Given the description of an element on the screen output the (x, y) to click on. 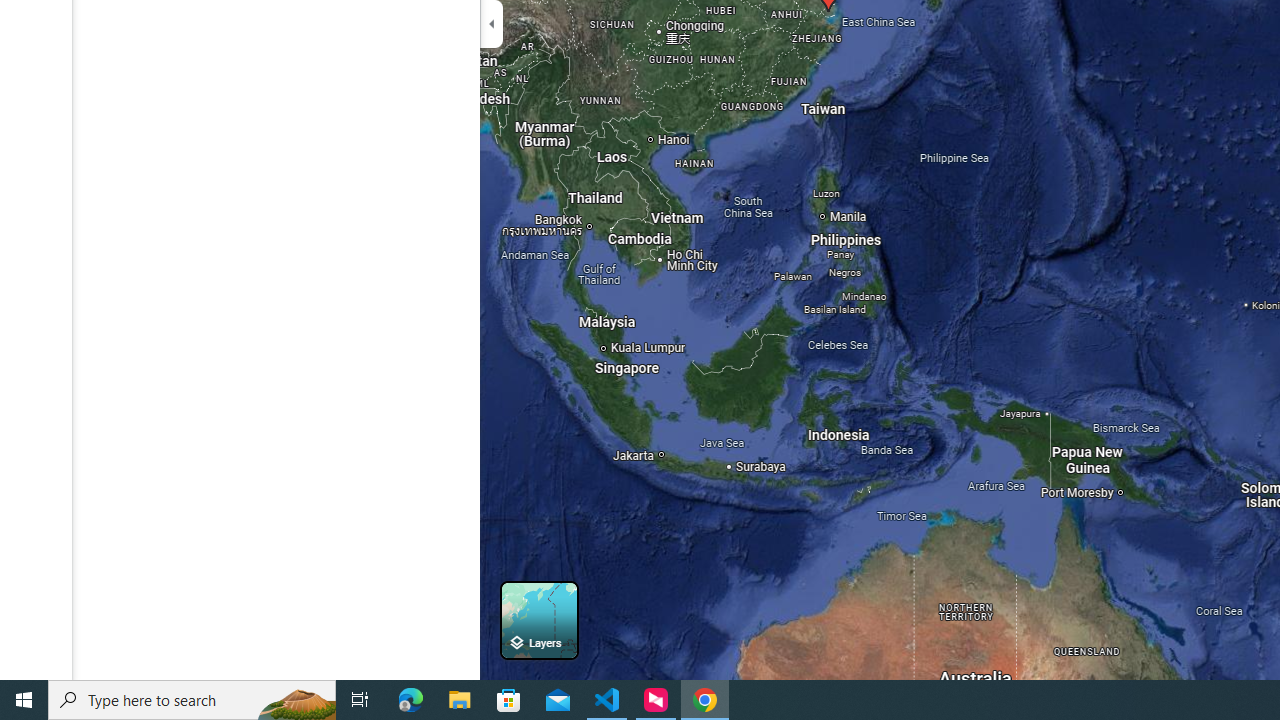
Layers (539, 620)
